Given the description of an element on the screen output the (x, y) to click on. 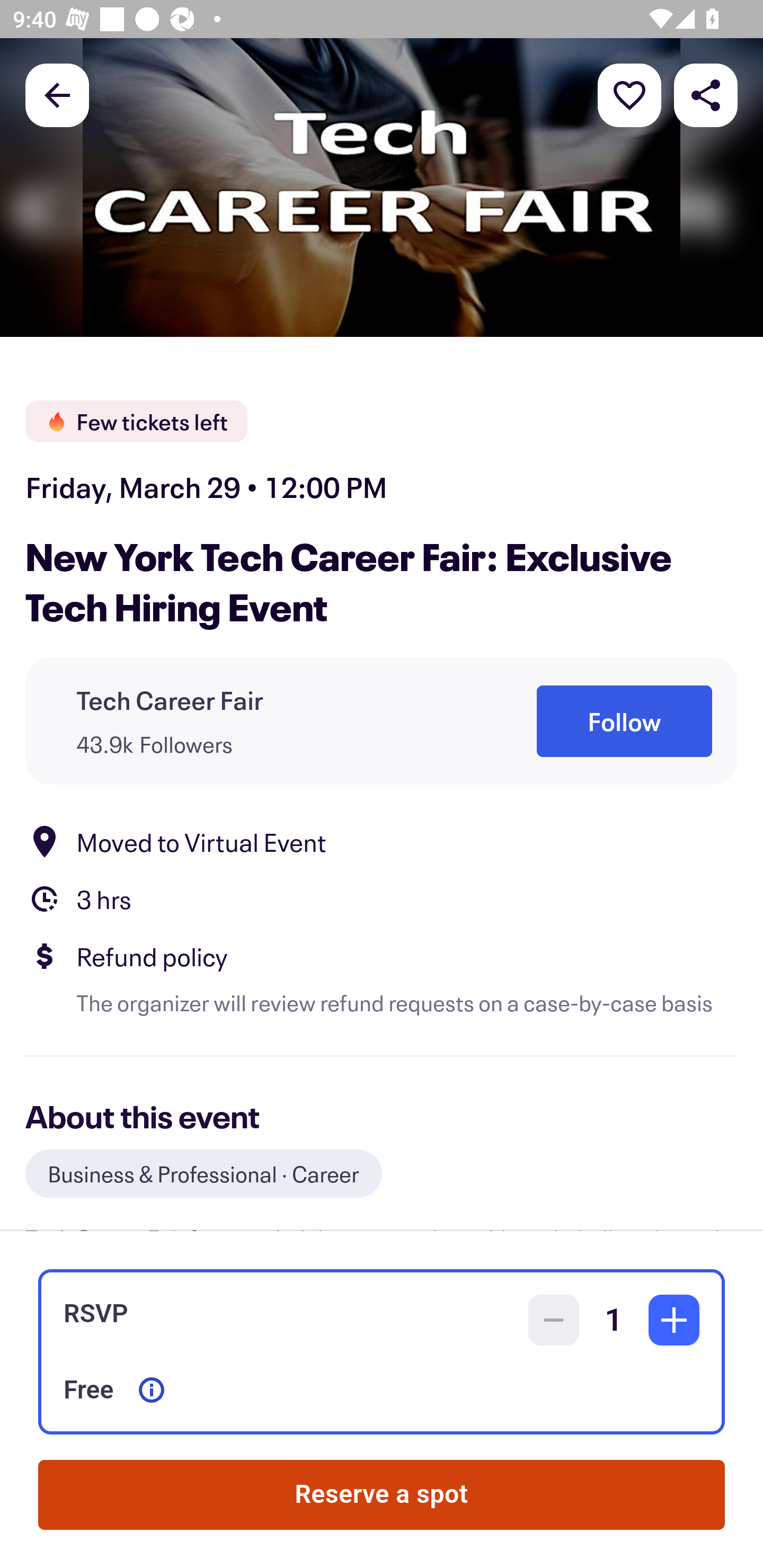
Back (57, 94)
More (629, 94)
Share (705, 94)
Tech Career Fair (169, 699)
Follow (623, 720)
Location Moved to Virtual Event (381, 840)
